Given the description of an element on the screen output the (x, y) to click on. 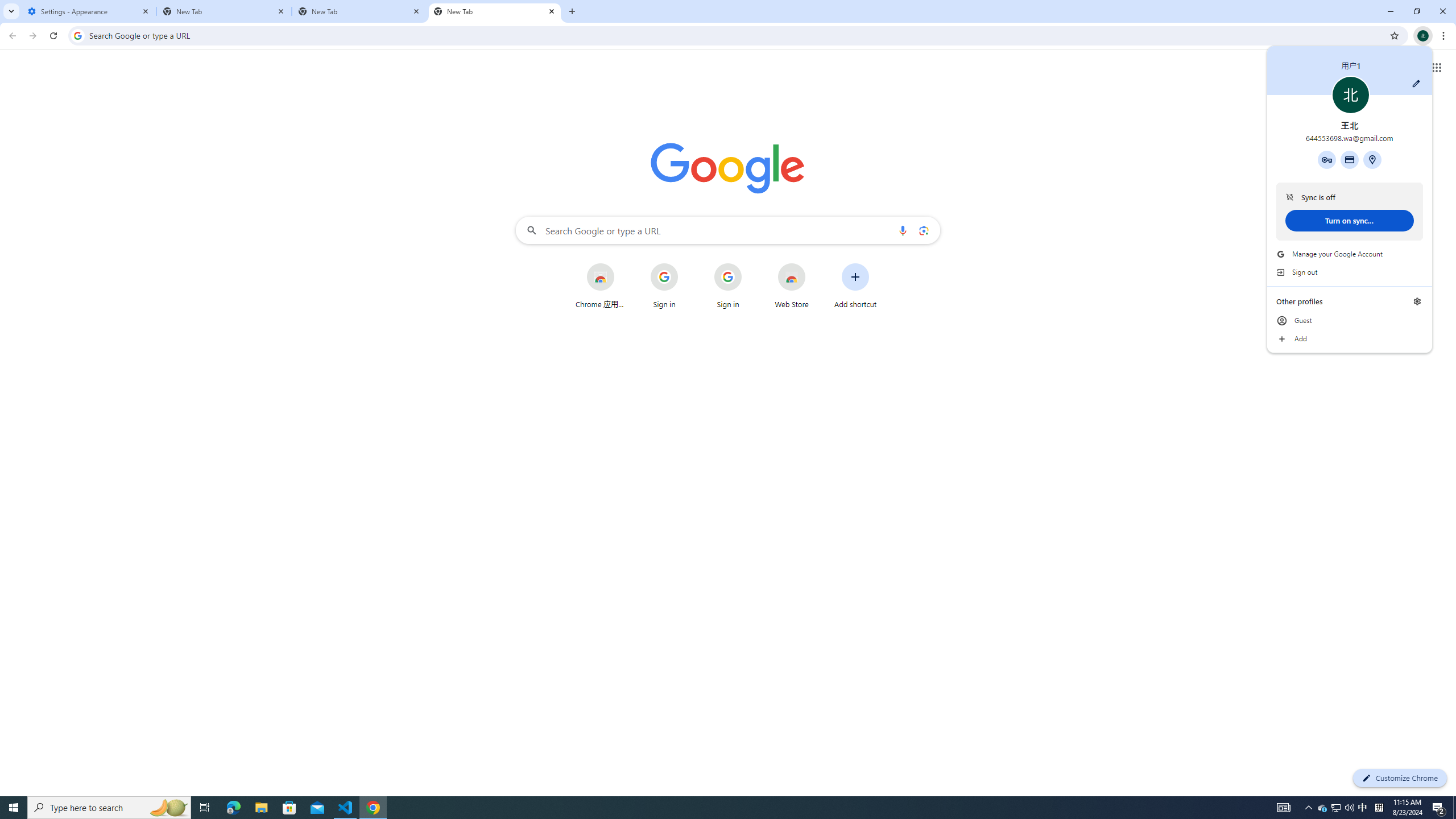
Settings - Appearance (88, 11)
Google Chrome - 1 running window (373, 807)
Sign out (1349, 272)
Tray Input Indicator - Chinese (Simplified, China) (1378, 807)
Microsoft Edge (233, 807)
Notification Chevron (1308, 807)
New Tab (494, 11)
